Given the description of an element on the screen output the (x, y) to click on. 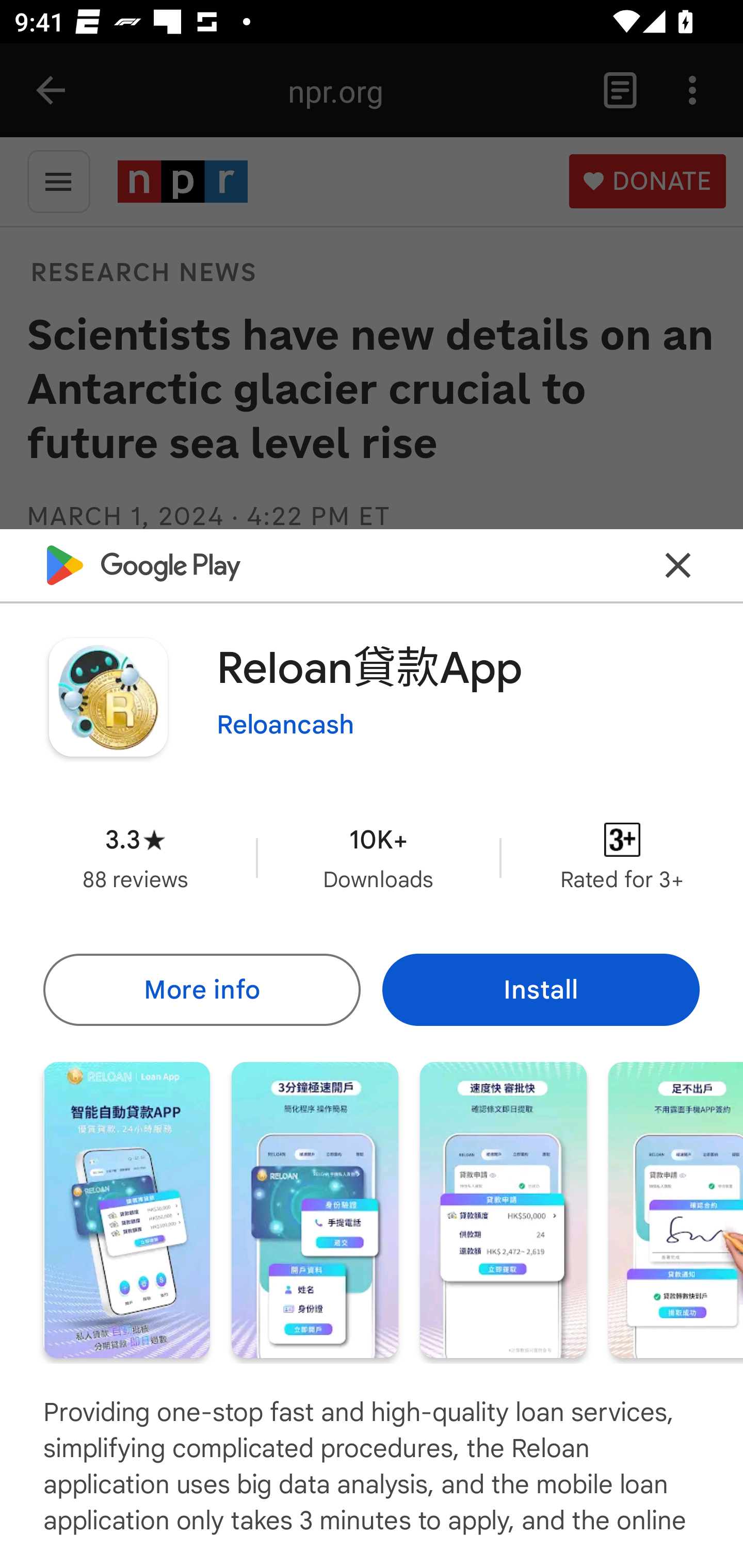
Close (677, 565)
Image of app or game icon for Reloan貸款App (108, 696)
Reloancash (284, 724)
More info (201, 989)
Install (540, 989)
Screenshot "1" of "5" (126, 1209)
Screenshot "2" of "5" (314, 1209)
Screenshot "3" of "5" (502, 1209)
Screenshot "4" of "5" (675, 1209)
